Given the description of an element on the screen output the (x, y) to click on. 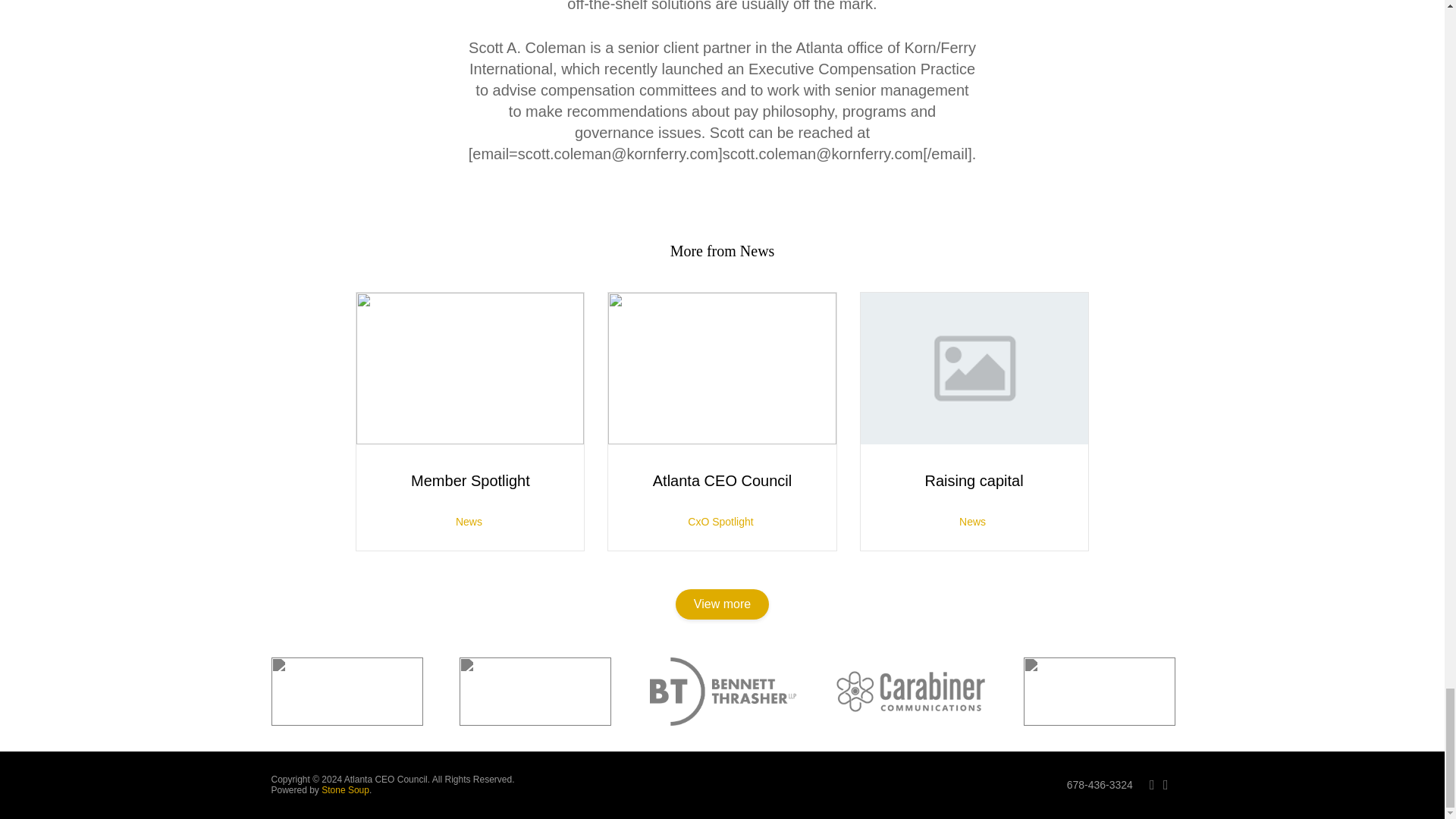
News (972, 521)
CxO Spotlight (719, 521)
Member Spotlight (470, 480)
678-436-3324 (1099, 784)
Atlanta CEO Council (722, 480)
News (468, 521)
Raising capital (974, 480)
Stone Soup (345, 789)
View more (721, 603)
